Given the description of an element on the screen output the (x, y) to click on. 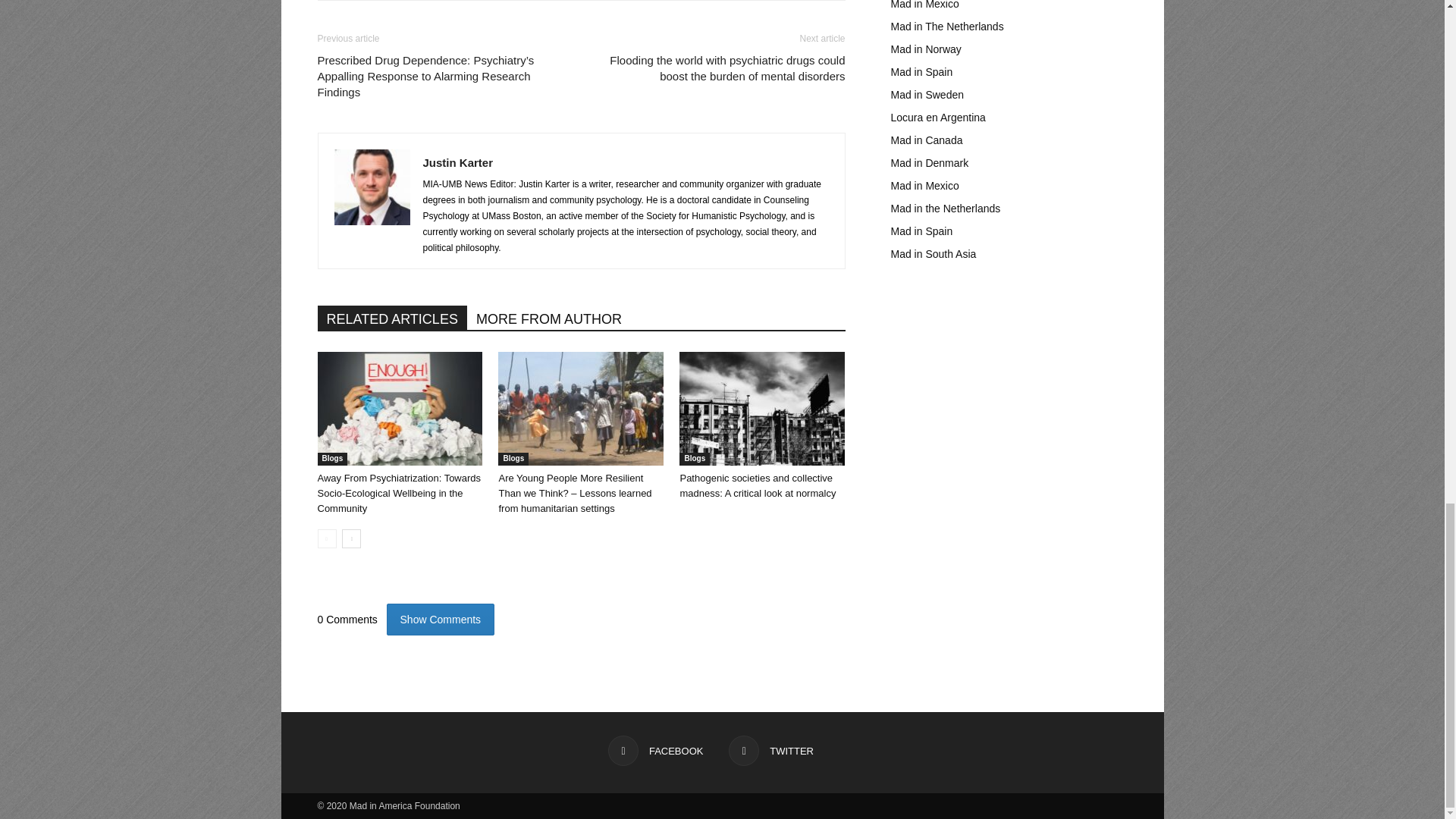
Facebook (655, 750)
